Given the description of an element on the screen output the (x, y) to click on. 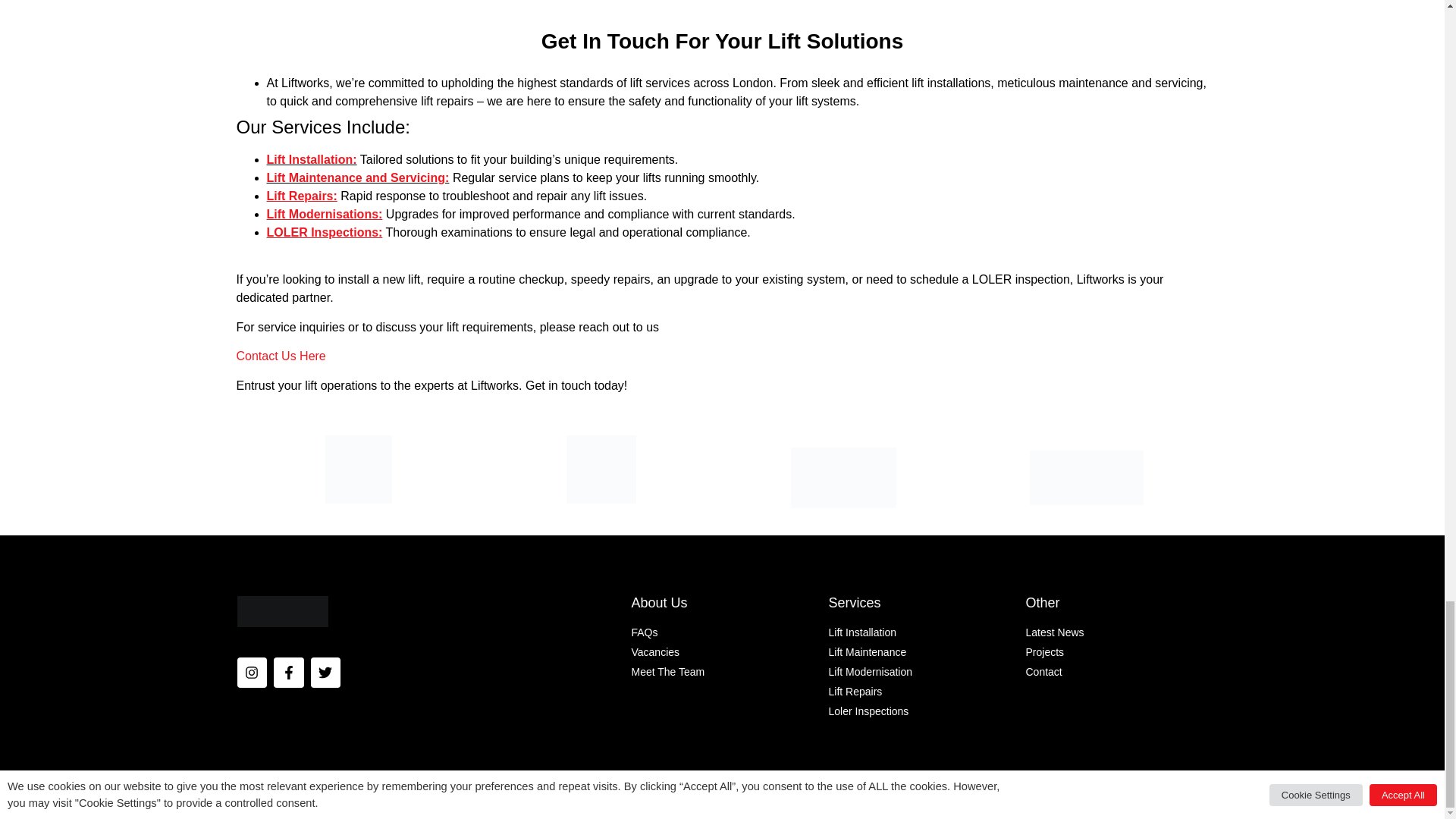
Lift Modernisations: (324, 214)
constructionline-approved (1085, 477)
Lift Repairs: (301, 195)
LOLER Inspections: (324, 232)
Contact Us Here (280, 355)
Lift Installation: (311, 159)
Lift Maintenance and Servicing: (357, 177)
